Given the description of an element on the screen output the (x, y) to click on. 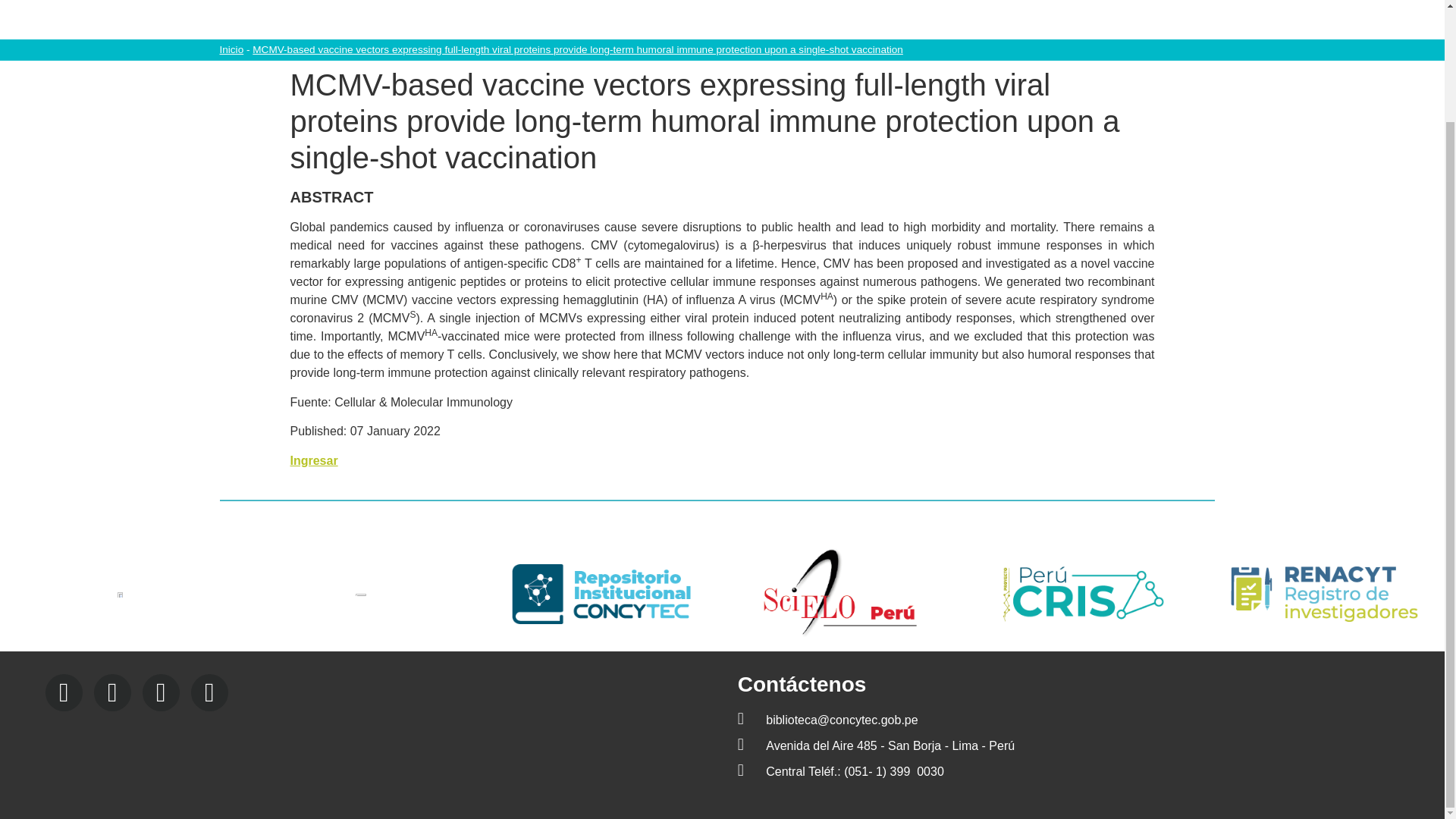
Capacitaciones (737, 8)
Inicio (231, 49)
Acerca de (531, 8)
Revistas (977, 8)
Ingresar (313, 460)
Inicio (456, 8)
Colecciones (627, 8)
